Given the description of an element on the screen output the (x, y) to click on. 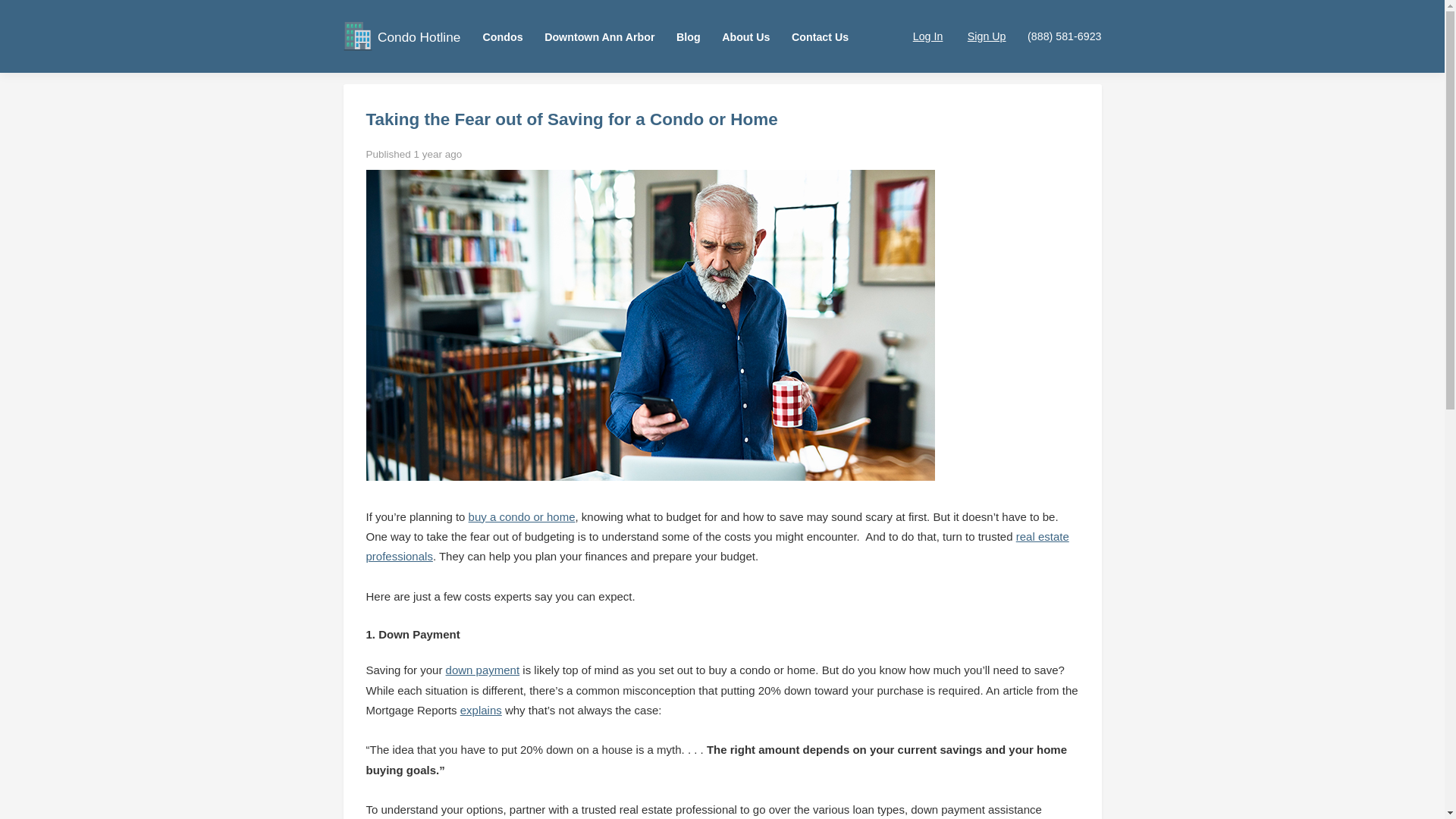
Contact Us (820, 36)
Condo Hotline (418, 37)
Log In (916, 36)
explains (481, 709)
Downtown Ann Arbor (599, 36)
real estate professionals (716, 545)
down payment (482, 669)
About Us (745, 36)
Sign Up (975, 36)
buy a condo or home (521, 516)
Condos (502, 36)
explains (481, 709)
real estate professionals (716, 545)
down payment (482, 669)
Blog (688, 36)
